Given the description of an element on the screen output the (x, y) to click on. 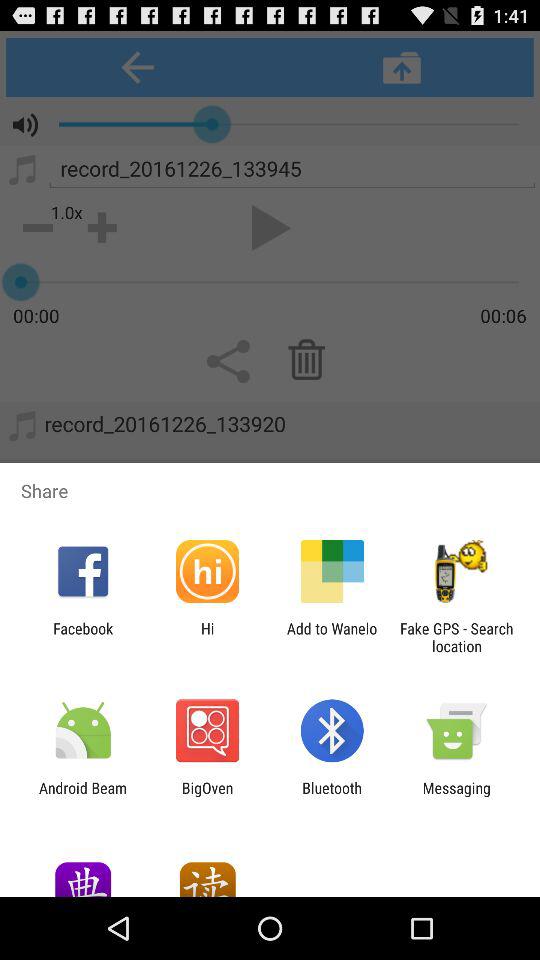
launch item next to the add to wanelo (456, 637)
